Given the description of an element on the screen output the (x, y) to click on. 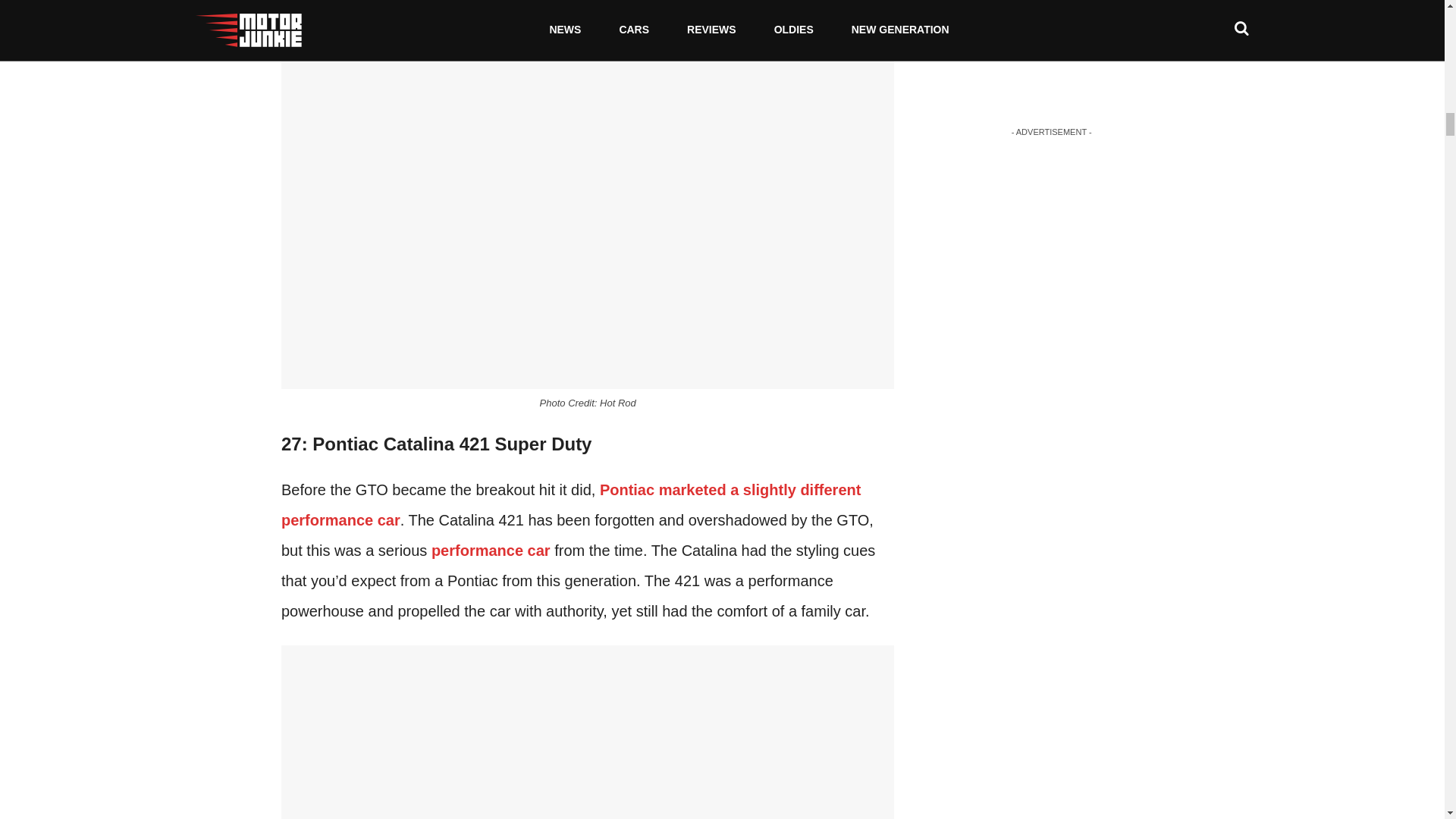
Pontiac marketed a slightly different performance car (570, 504)
performance car (490, 550)
